Given the description of an element on the screen output the (x, y) to click on. 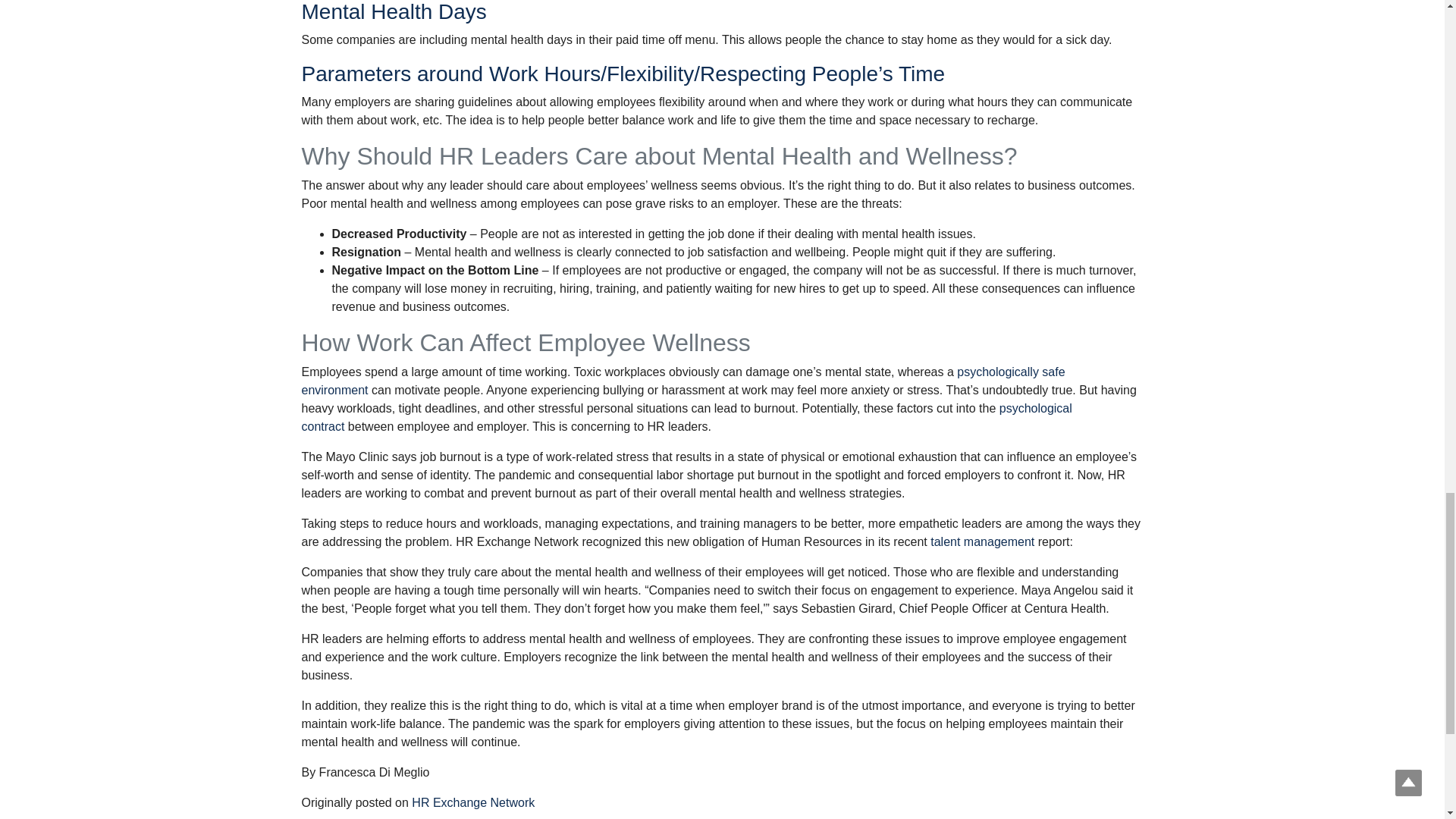
psychologically safe environment (683, 380)
psychological contract (686, 417)
talent management (981, 541)
